Given the description of an element on the screen output the (x, y) to click on. 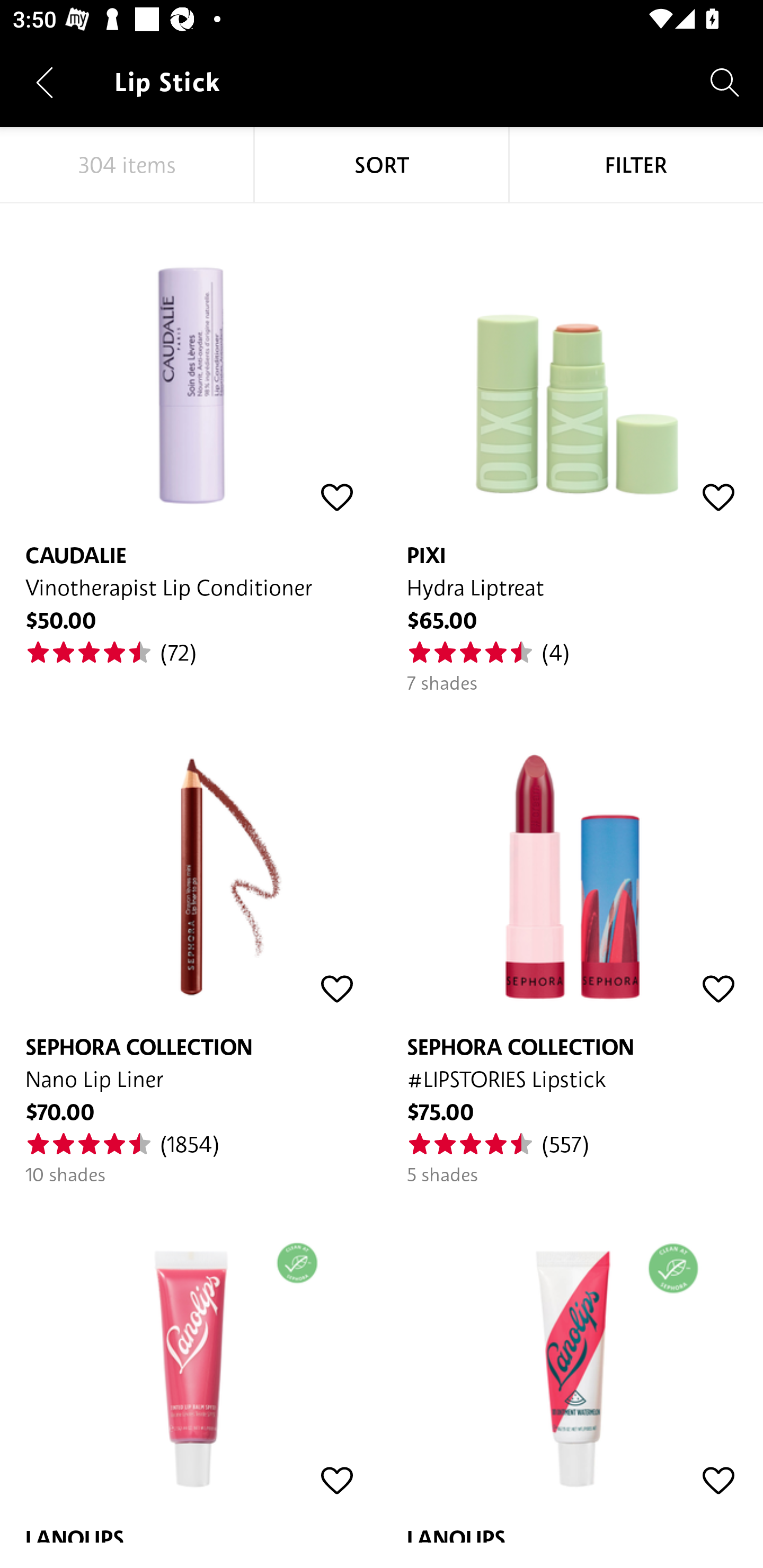
Navigate up (44, 82)
Search (724, 81)
SORT (381, 165)
FILTER (636, 165)
CAUDALIE Vinotherapist Lip Conditioner $50.00 (72) (190, 434)
PIXI Hydra Liptreat $65.00 (4) 7 shades (571, 448)
LANOLIPS Tinted Balm SPF30 (190, 1364)
LANOLIPS 101 Ointment Multi-Balm (571, 1364)
